Given the description of an element on the screen output the (x, y) to click on. 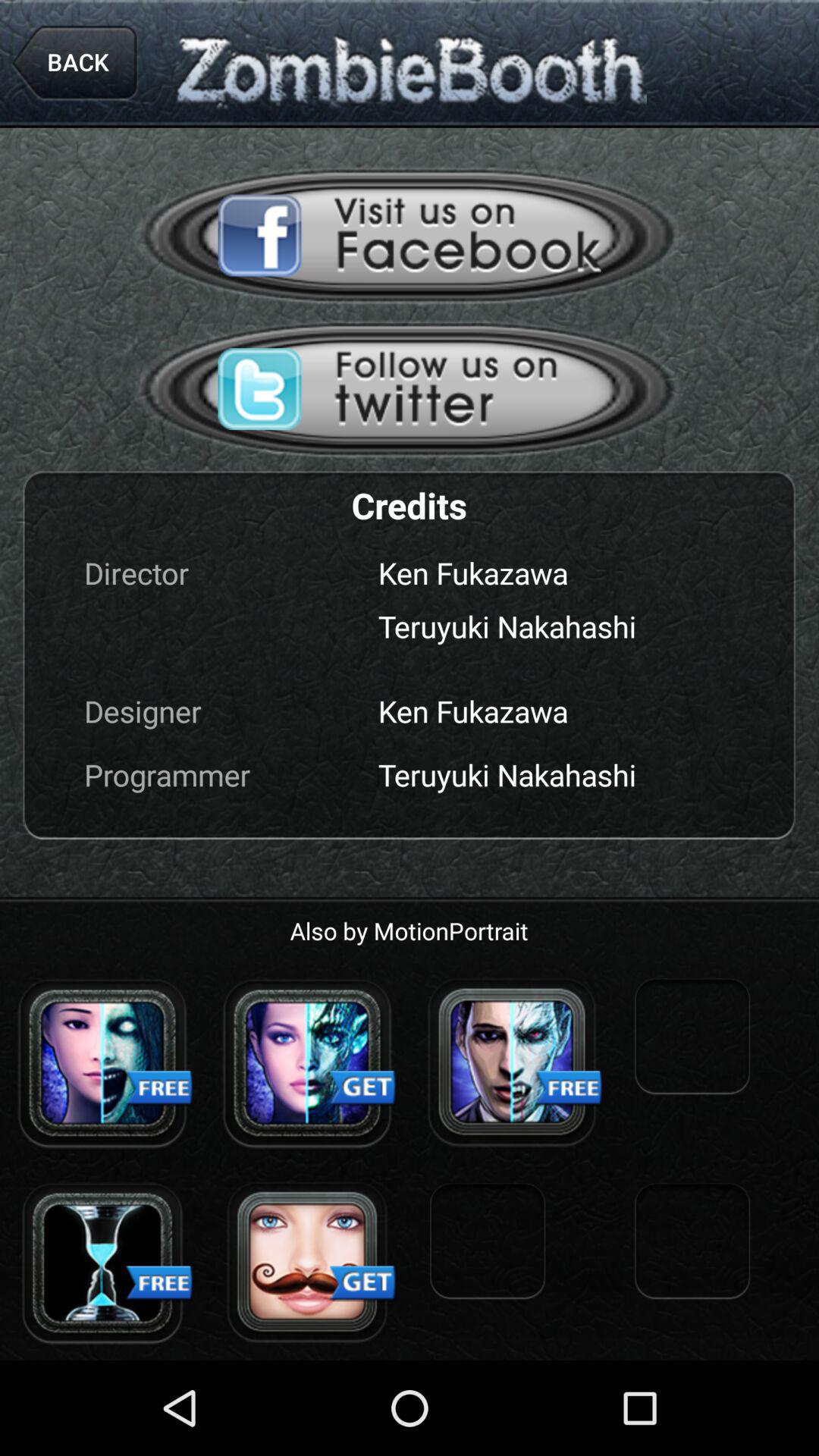
choose avatar (306, 1062)
